Given the description of an element on the screen output the (x, y) to click on. 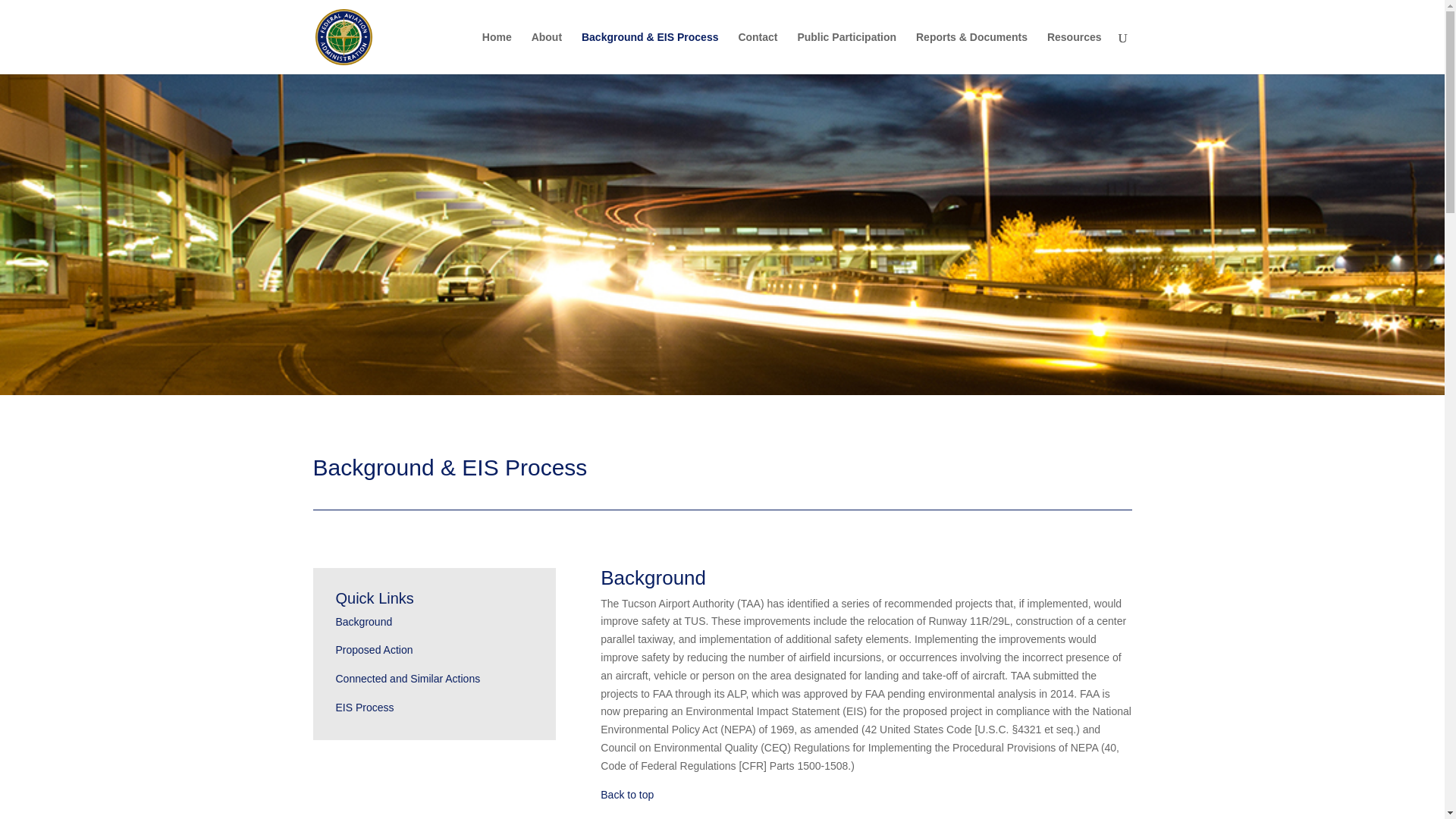
Resources (1074, 52)
Proposed Action (373, 649)
Back to top (626, 794)
Connected and Similar Actions (407, 678)
Public Participation (846, 52)
EIS Process (363, 707)
Contact (757, 52)
Background (362, 621)
